Given the description of an element on the screen output the (x, y) to click on. 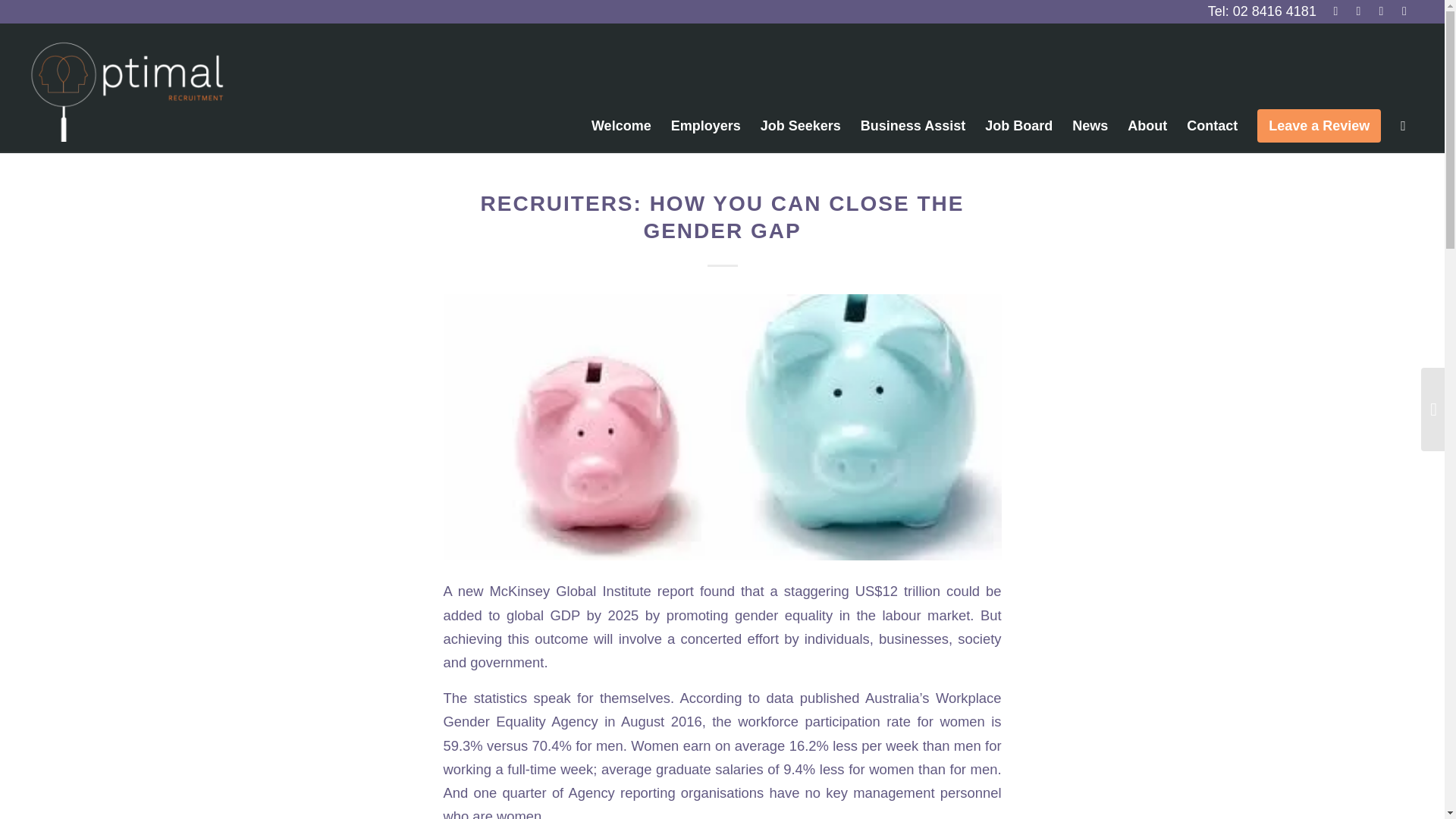
Permanent Link: Recruiters: How You Can Close the Gender Gap (721, 216)
Instagram (1359, 11)
Mail (1404, 11)
Linkedin (1380, 11)
Leave a Review (1318, 125)
Business Assist (912, 125)
Facebook (1335, 11)
Workplace Gender Equality Agency (721, 709)
RECRUITERS: HOW YOU CAN CLOSE THE GENDER GAP (721, 216)
